Given the description of an element on the screen output the (x, y) to click on. 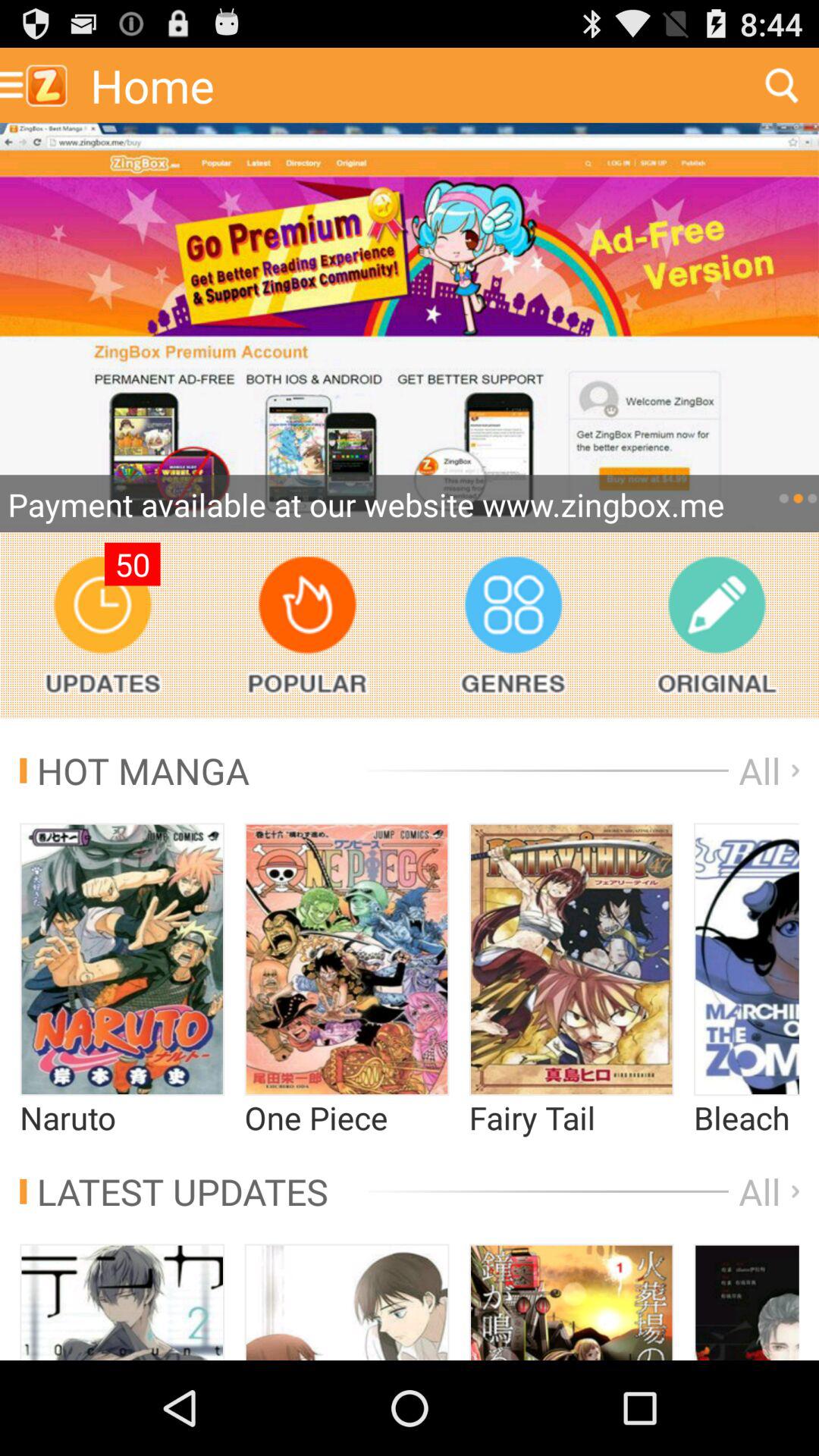
updates (101, 625)
